Given the description of an element on the screen output the (x, y) to click on. 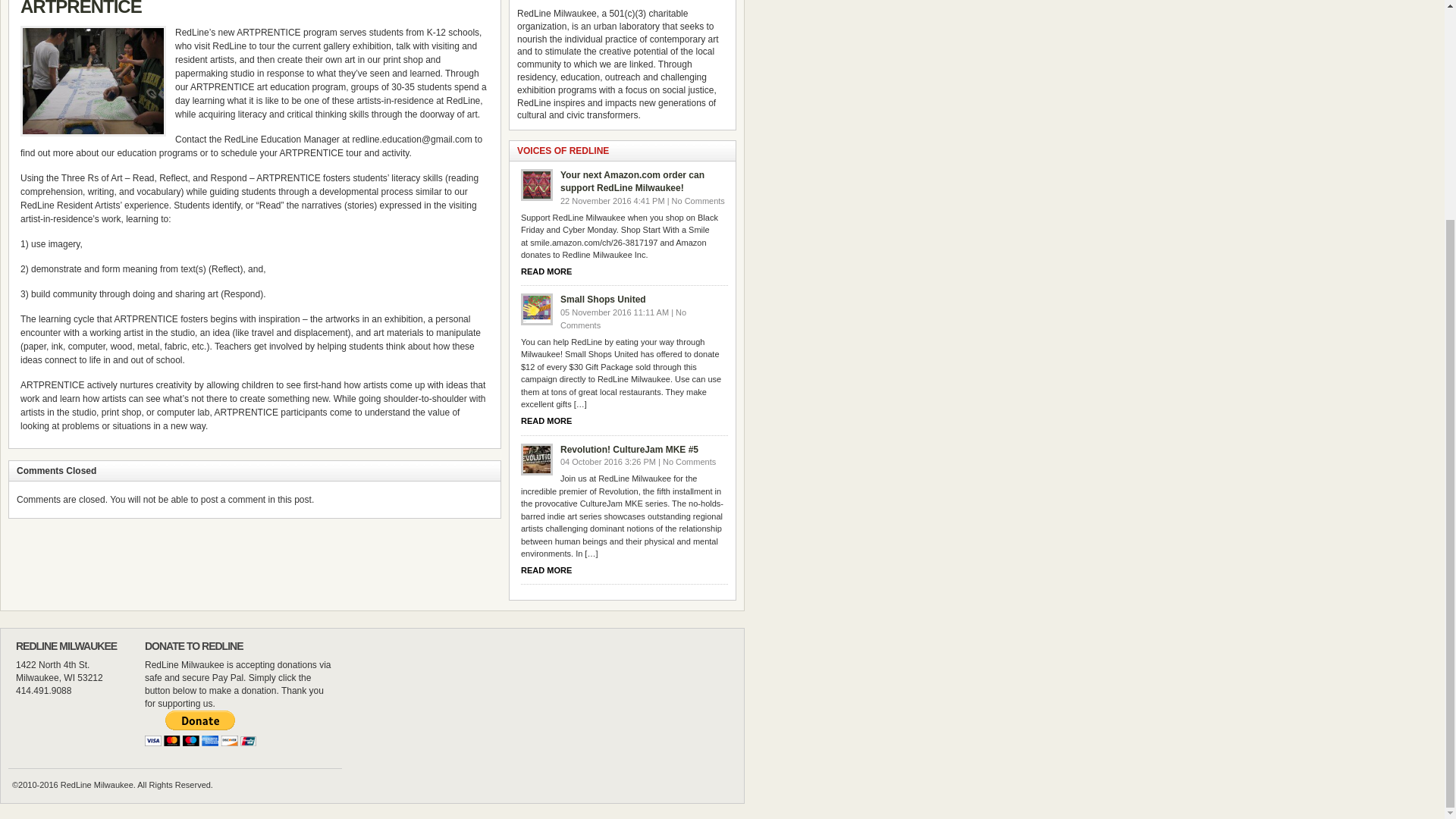
ARTPRENTICE (80, 8)
